Given the description of an element on the screen output the (x, y) to click on. 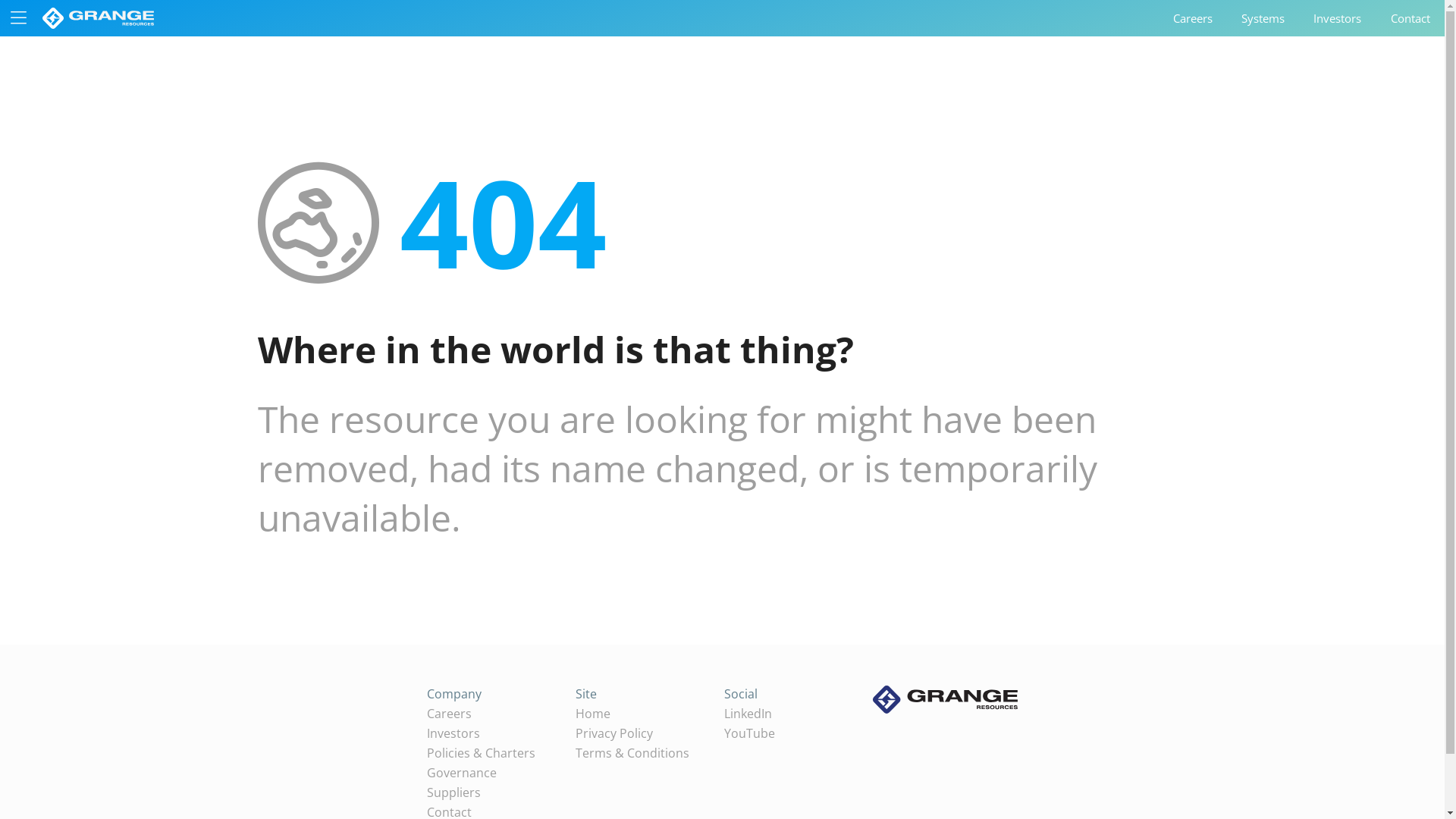
Governance Element type: text (489, 772)
Terms & Conditions Element type: text (638, 752)
Privacy Policy Element type: text (638, 732)
Careers Element type: text (1192, 18)
Open the menu Element type: hover (18, 18)
Investors Element type: text (489, 732)
Contact Element type: text (1410, 18)
LinkedIn Element type: text (786, 713)
Suppliers Element type: text (489, 792)
Home Element type: text (638, 713)
YouTube Element type: text (786, 732)
Systems Element type: text (1262, 18)
Policies & Charters Element type: text (489, 752)
Investors Element type: text (1337, 18)
Careers Element type: text (489, 713)
